Given the description of an element on the screen output the (x, y) to click on. 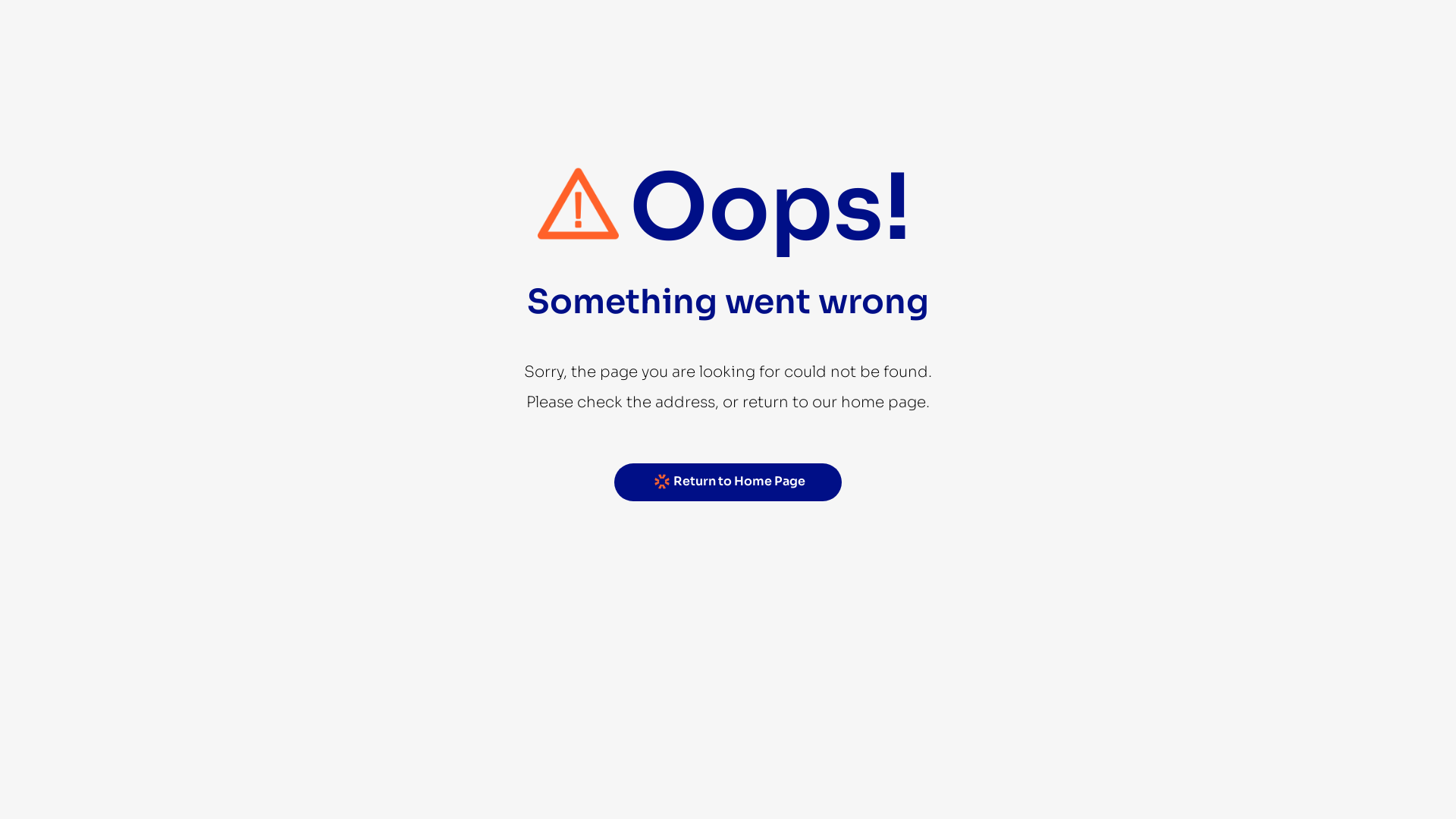
Return to Home Page Element type: text (727, 482)
